Given the description of an element on the screen output the (x, y) to click on. 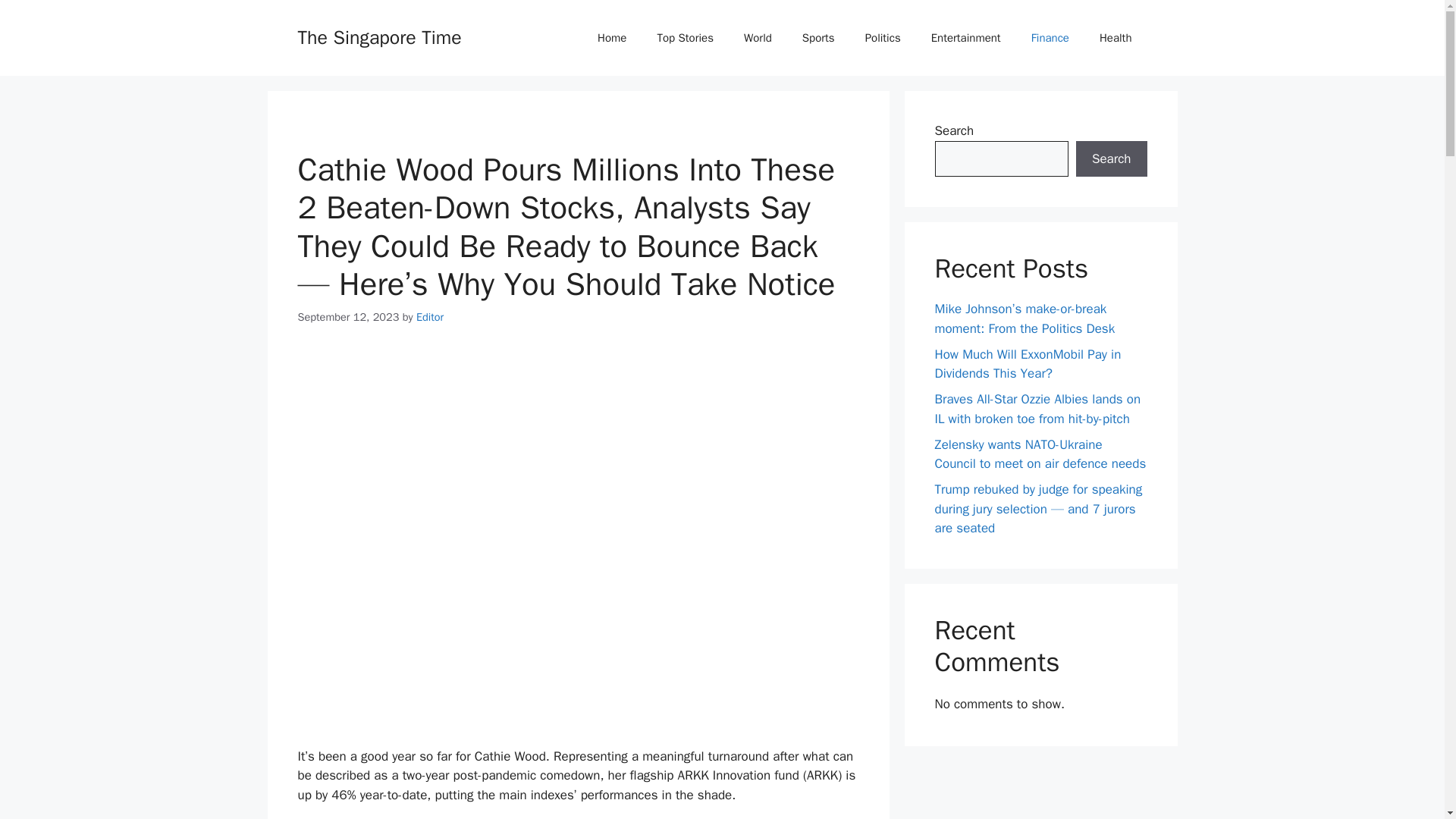
Entertainment (965, 37)
The Singapore Time (379, 37)
Politics (882, 37)
How Much Will ExxonMobil Pay in Dividends This Year? (1027, 363)
Finance (1050, 37)
Top Stories (685, 37)
Health (1115, 37)
Editor (430, 316)
Search (1111, 158)
Home (612, 37)
World (758, 37)
View all posts by Editor (430, 316)
Sports (818, 37)
